Given the description of an element on the screen output the (x, y) to click on. 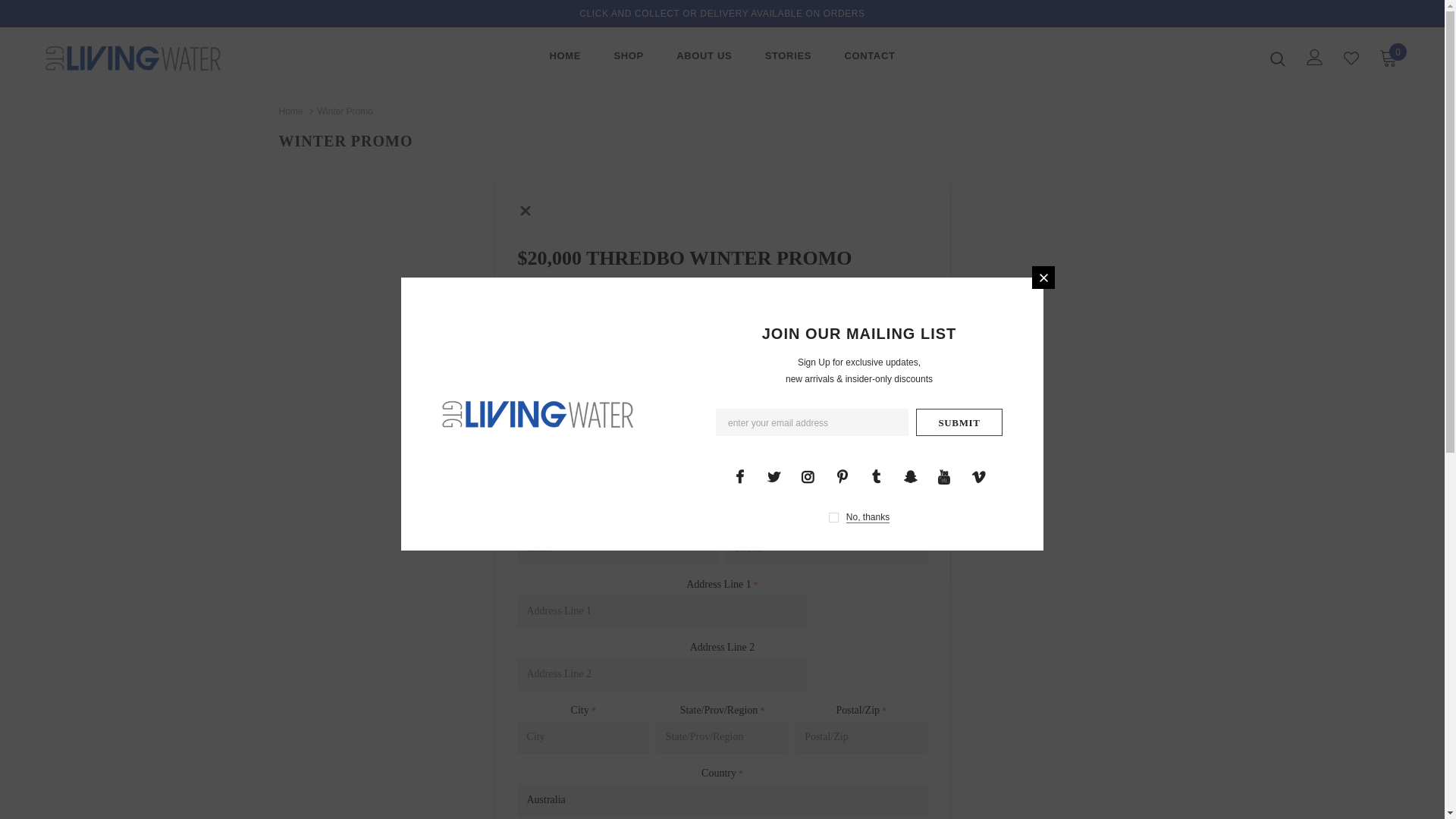
Pinterest Element type: hover (841, 475)
Facebook Element type: hover (739, 475)
Close Element type: hover (1043, 277)
Snapchat Element type: hover (909, 475)
ABOUT US Element type: text (703, 58)
Home Element type: text (291, 111)
HOME Element type: text (564, 58)
Logo Element type: hover (134, 57)
STORIES Element type: text (788, 58)
YouTube Element type: hover (943, 475)
Instagram Element type: hover (807, 475)
Submit Element type: text (959, 422)
0 Element type: text (1388, 57)
Search Icon Element type: hover (1277, 57)
Twitter Element type: hover (773, 475)
Tumblr Element type: hover (875, 475)
User Icon Element type: hover (1314, 57)
SHOP Element type: text (628, 58)
CONTACT Element type: text (869, 58)
Vimeo Element type: hover (977, 475)
